Given the description of an element on the screen output the (x, y) to click on. 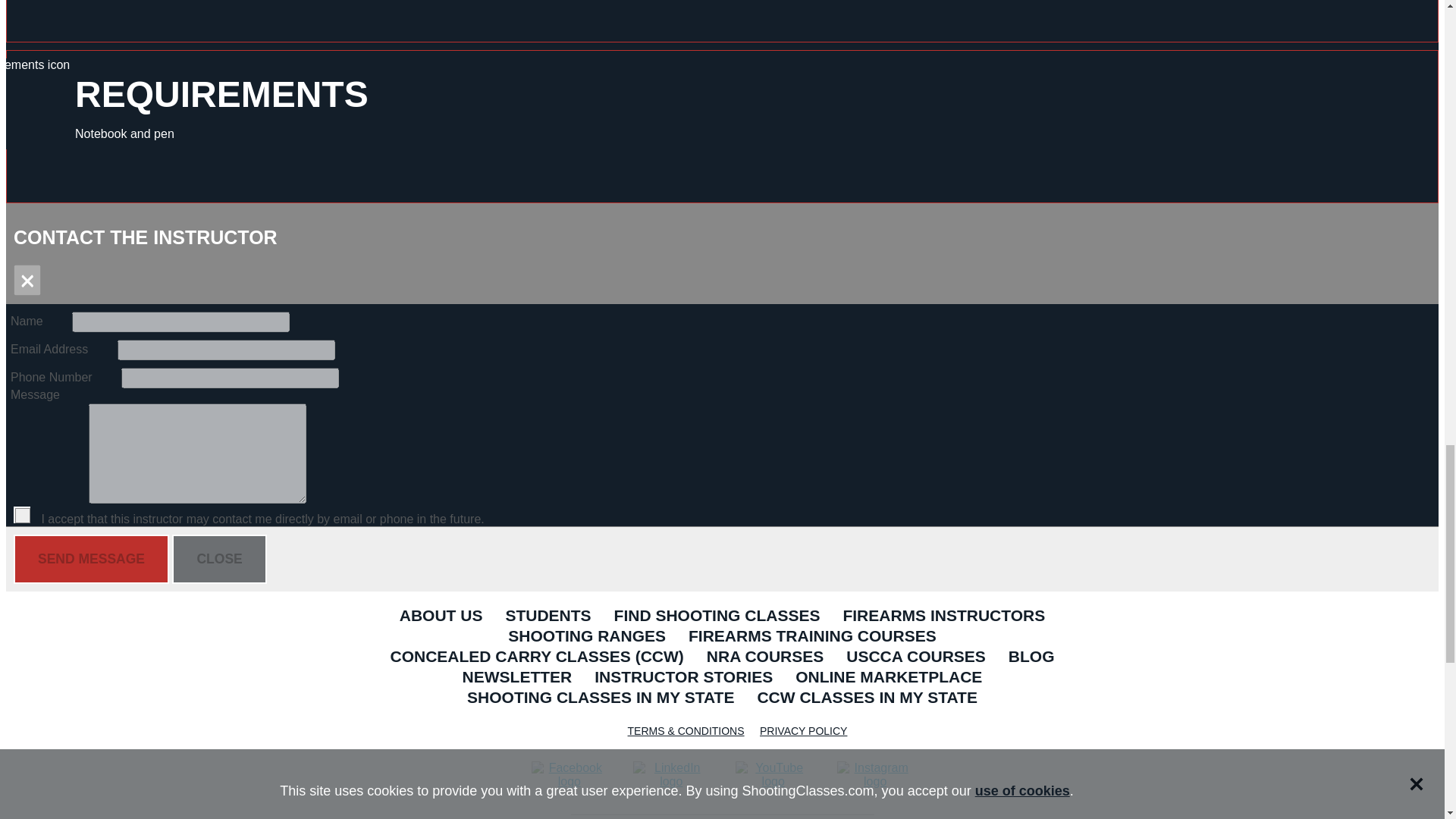
BLOG (1031, 657)
FIND SHOOTING CLASSES (716, 616)
CCW CLASSES IN MY STATE (866, 698)
SEND MESSAGE (90, 558)
SHOOTING RANGES (586, 637)
INSTRUCTOR STORIES (683, 678)
on (21, 514)
STUDENTS (547, 616)
NRA COURSES (764, 657)
FIREARMS TRAINING COURSES (812, 637)
